Given the description of an element on the screen output the (x, y) to click on. 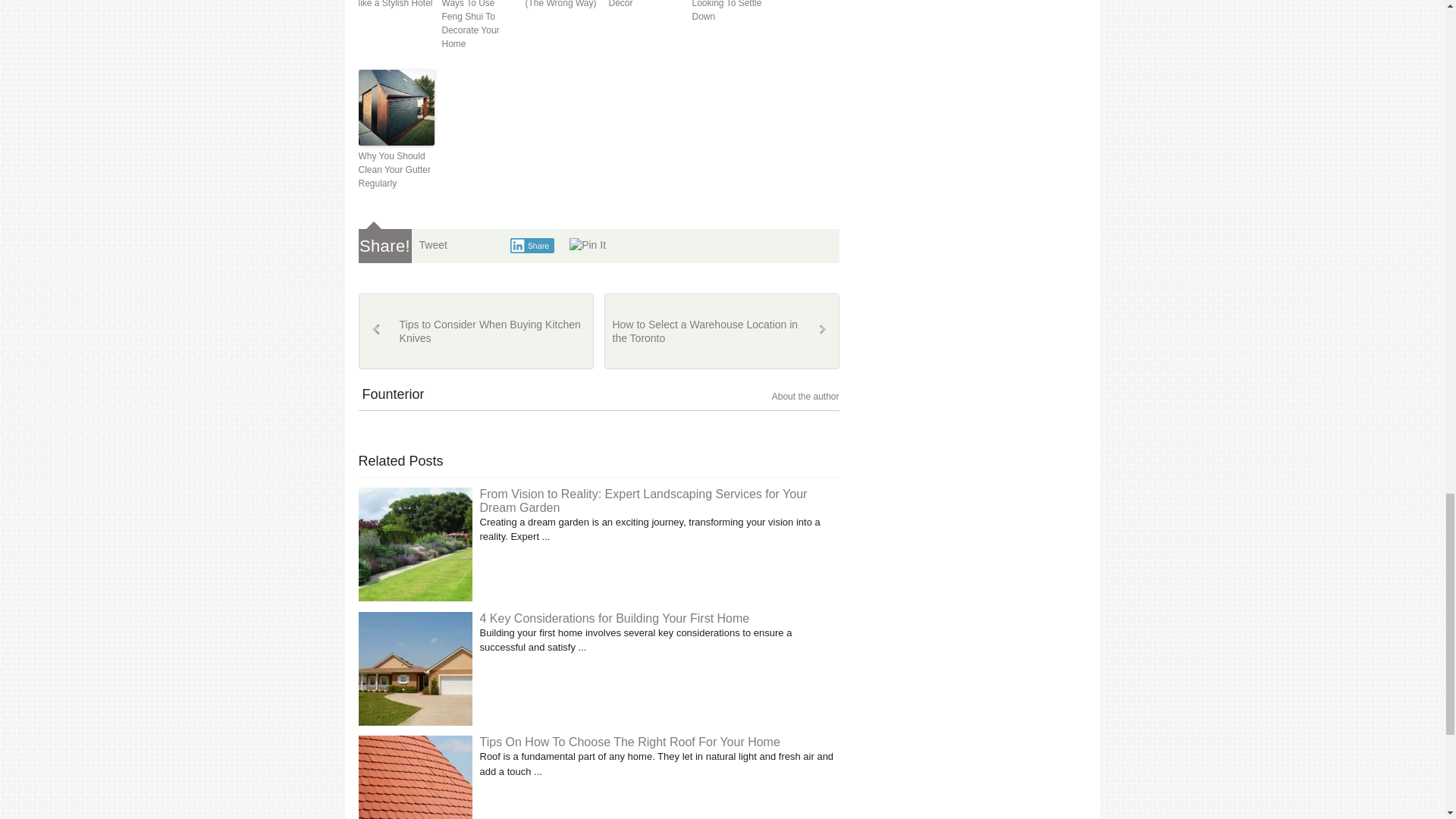
Pin It (587, 245)
